Given the description of an element on the screen output the (x, y) to click on. 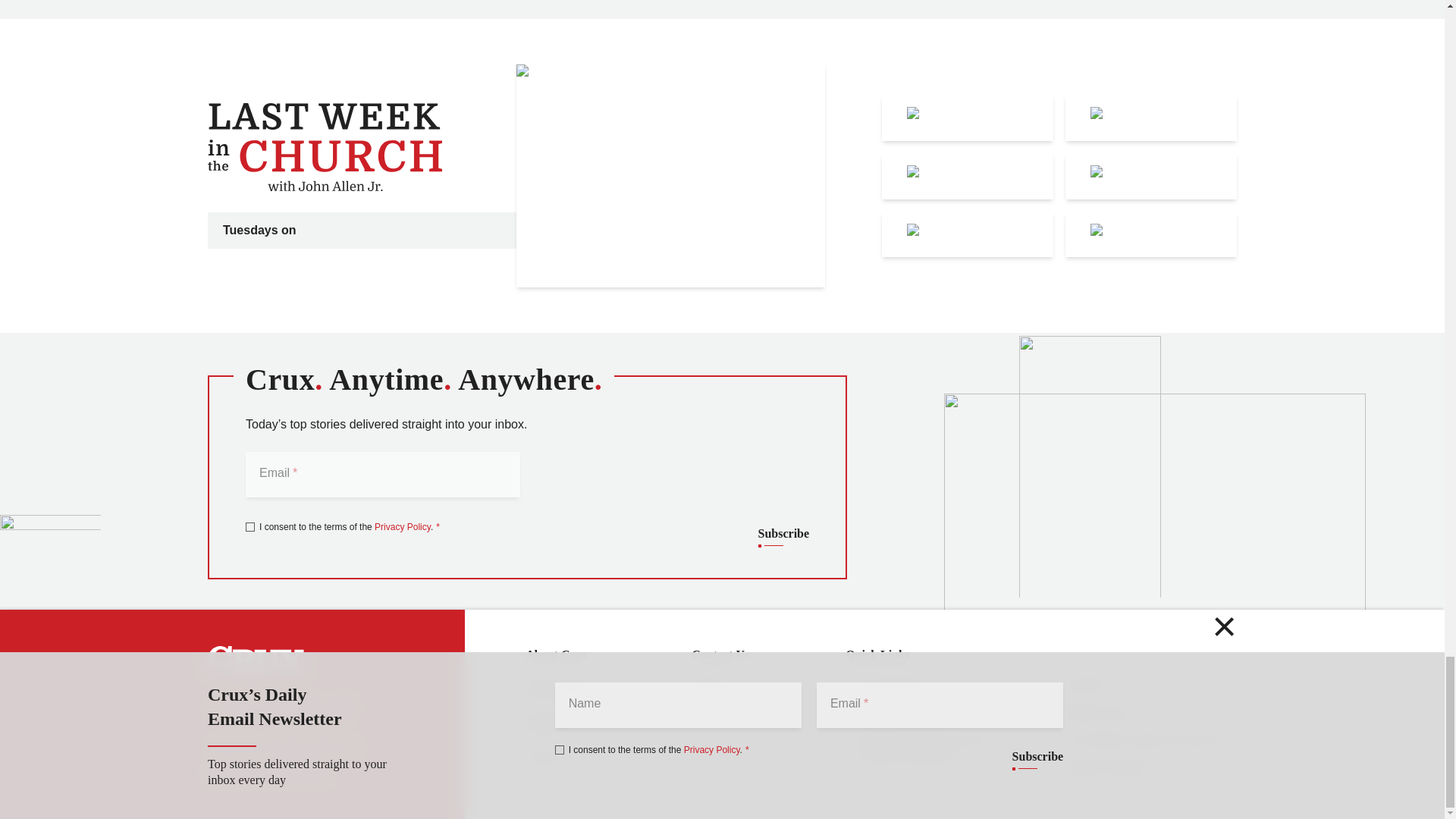
true (250, 526)
